Given the description of an element on the screen output the (x, y) to click on. 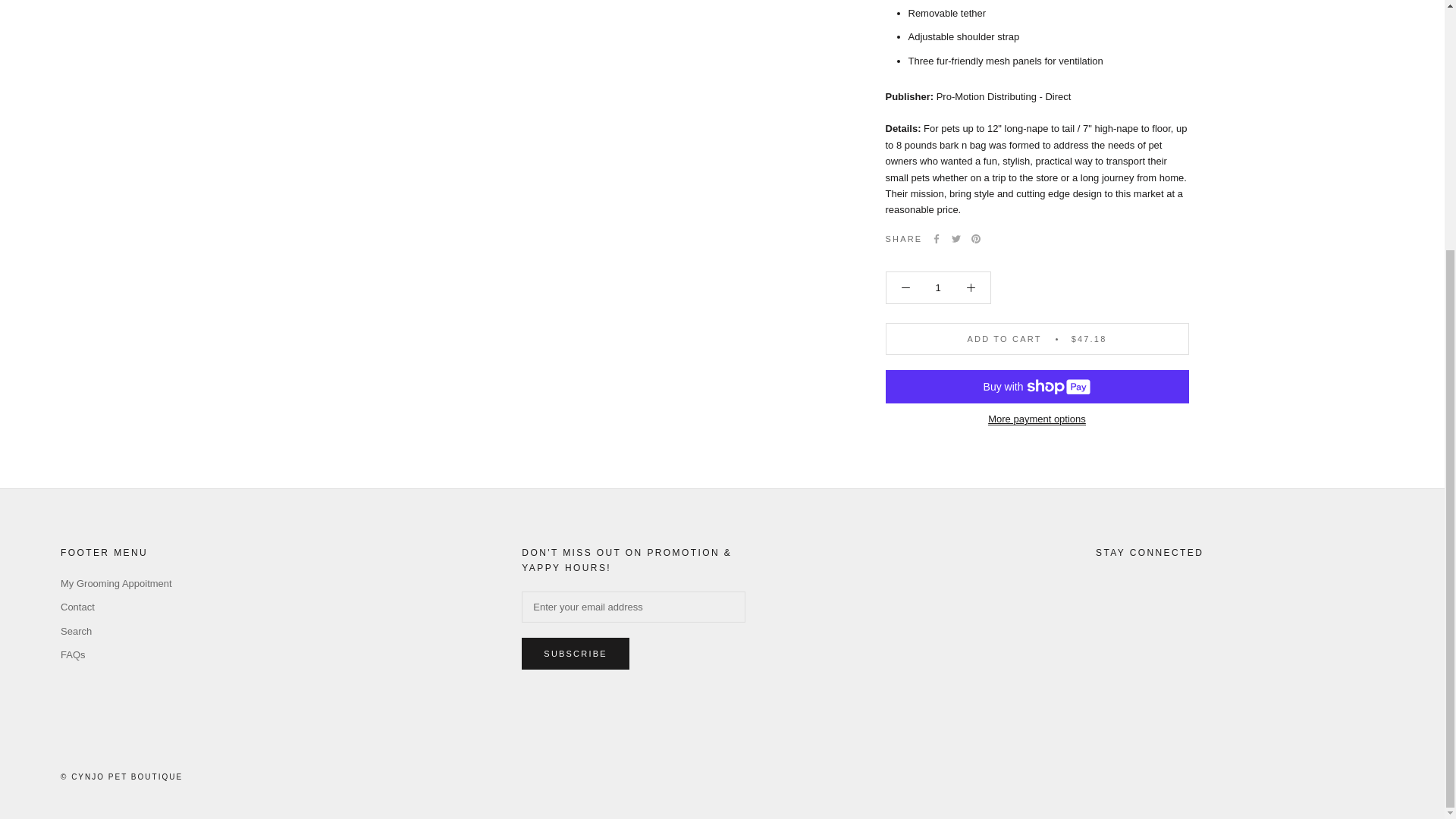
1 (938, 254)
